Given the description of an element on the screen output the (x, y) to click on. 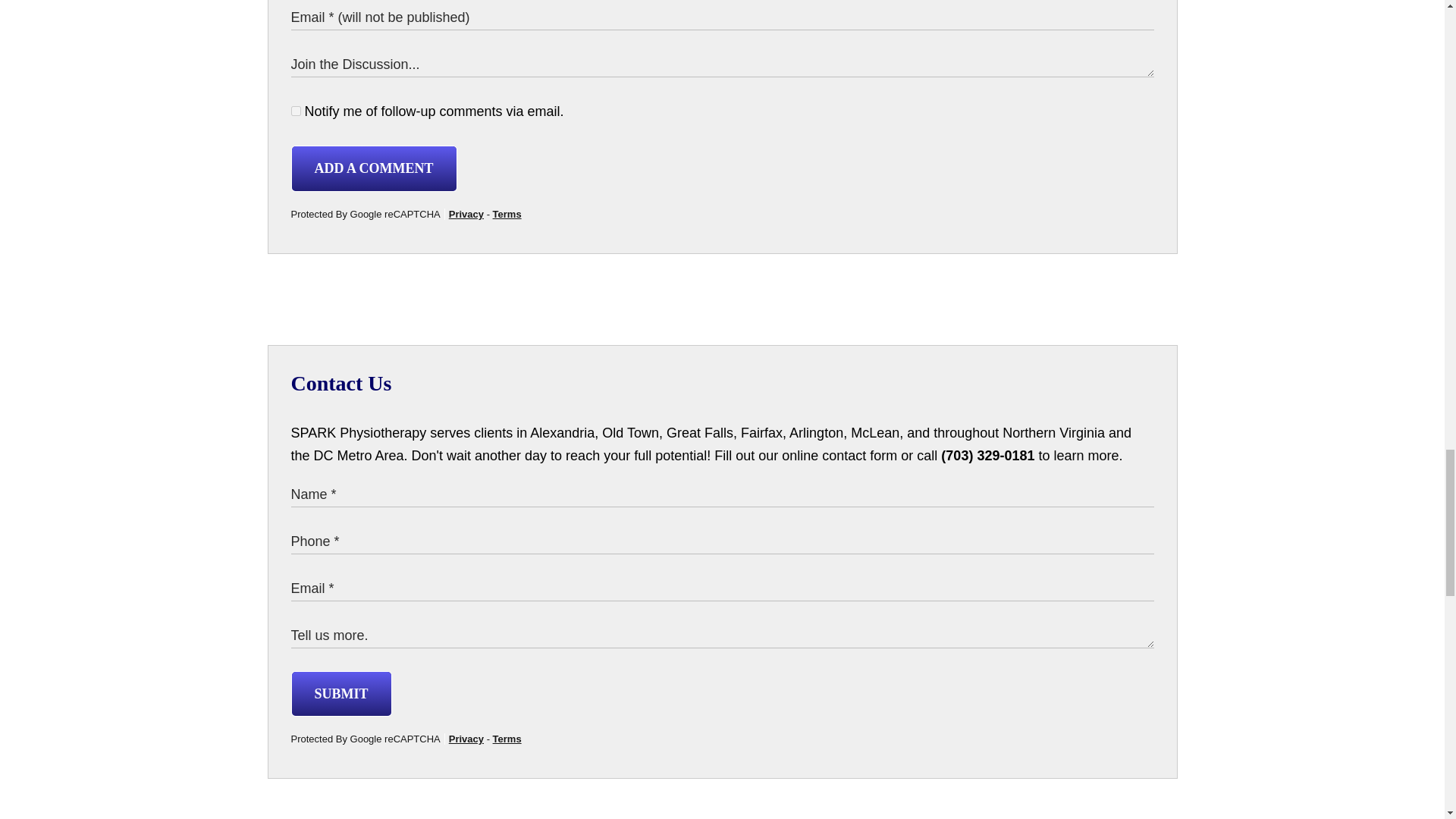
1 (296, 111)
